Given the description of an element on the screen output the (x, y) to click on. 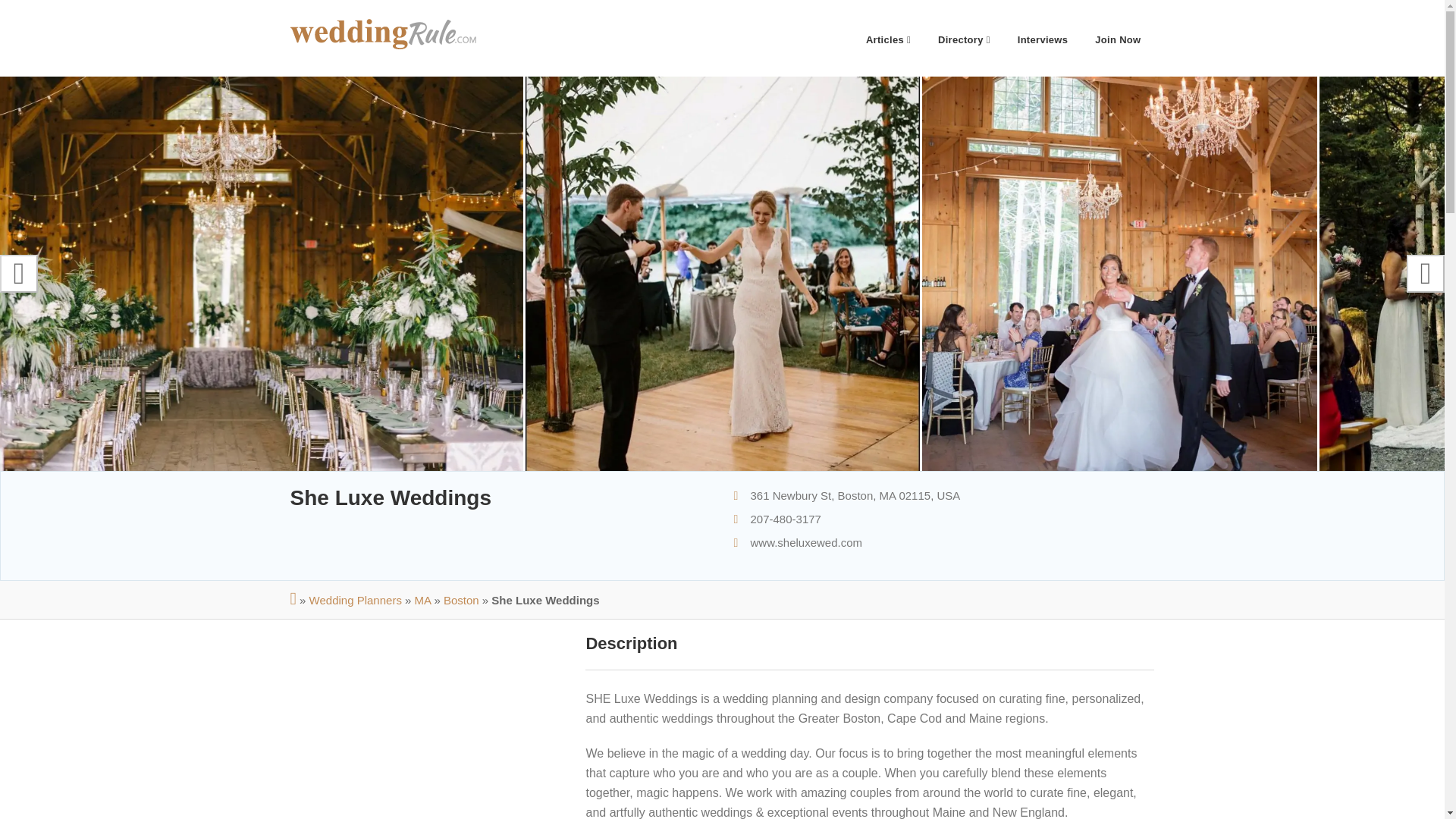
Join Now (1117, 38)
www.sheluxewed.com (807, 542)
prev (18, 273)
Directory (964, 38)
Wedding Planners (354, 599)
MA (422, 599)
Interviews (1042, 38)
Articles (887, 38)
